Given the description of an element on the screen output the (x, y) to click on. 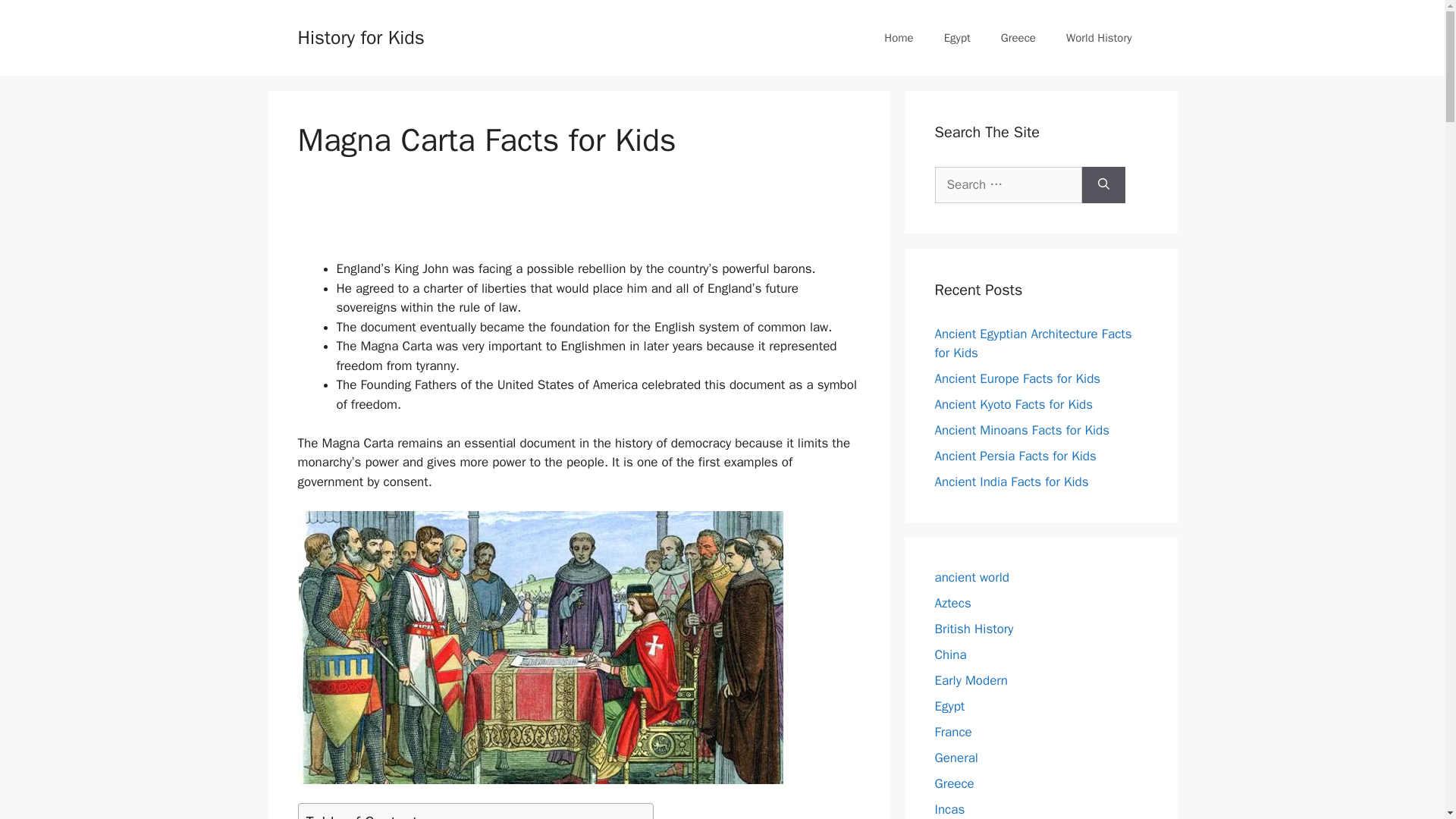
Ancient Persia Facts for Kids (1015, 455)
General (955, 756)
ancient world (971, 576)
Aztecs (952, 602)
British History (973, 627)
History for Kids (360, 37)
Ancient Kyoto Facts for Kids (1013, 404)
Ancient Europe Facts for Kids (1017, 378)
World History (1099, 37)
Ancient India Facts for Kids (1010, 481)
Search for: (1007, 185)
Greece (1018, 37)
Home (898, 37)
Egypt (956, 37)
Ancient Minoans Facts for Kids (1021, 430)
